Given the description of an element on the screen output the (x, y) to click on. 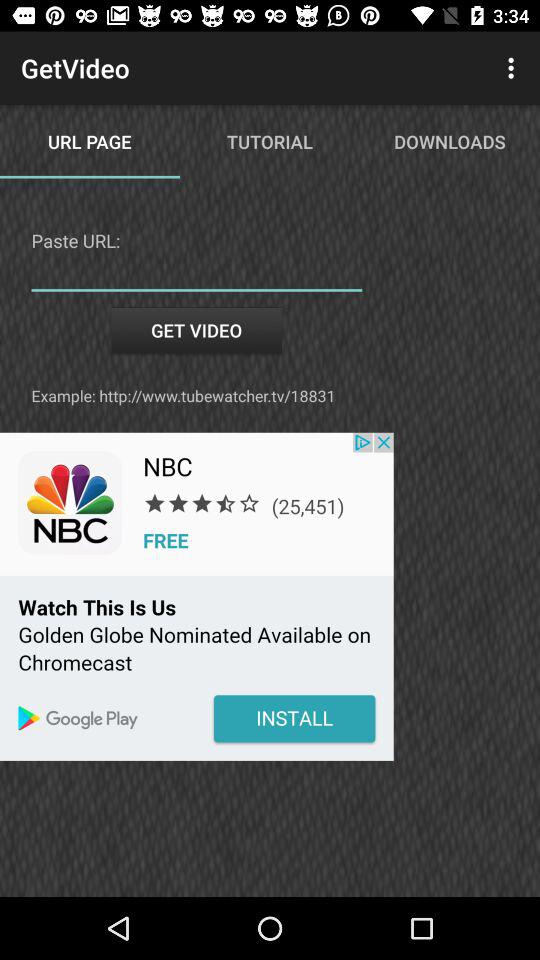
share url (196, 276)
